Given the description of an element on the screen output the (x, y) to click on. 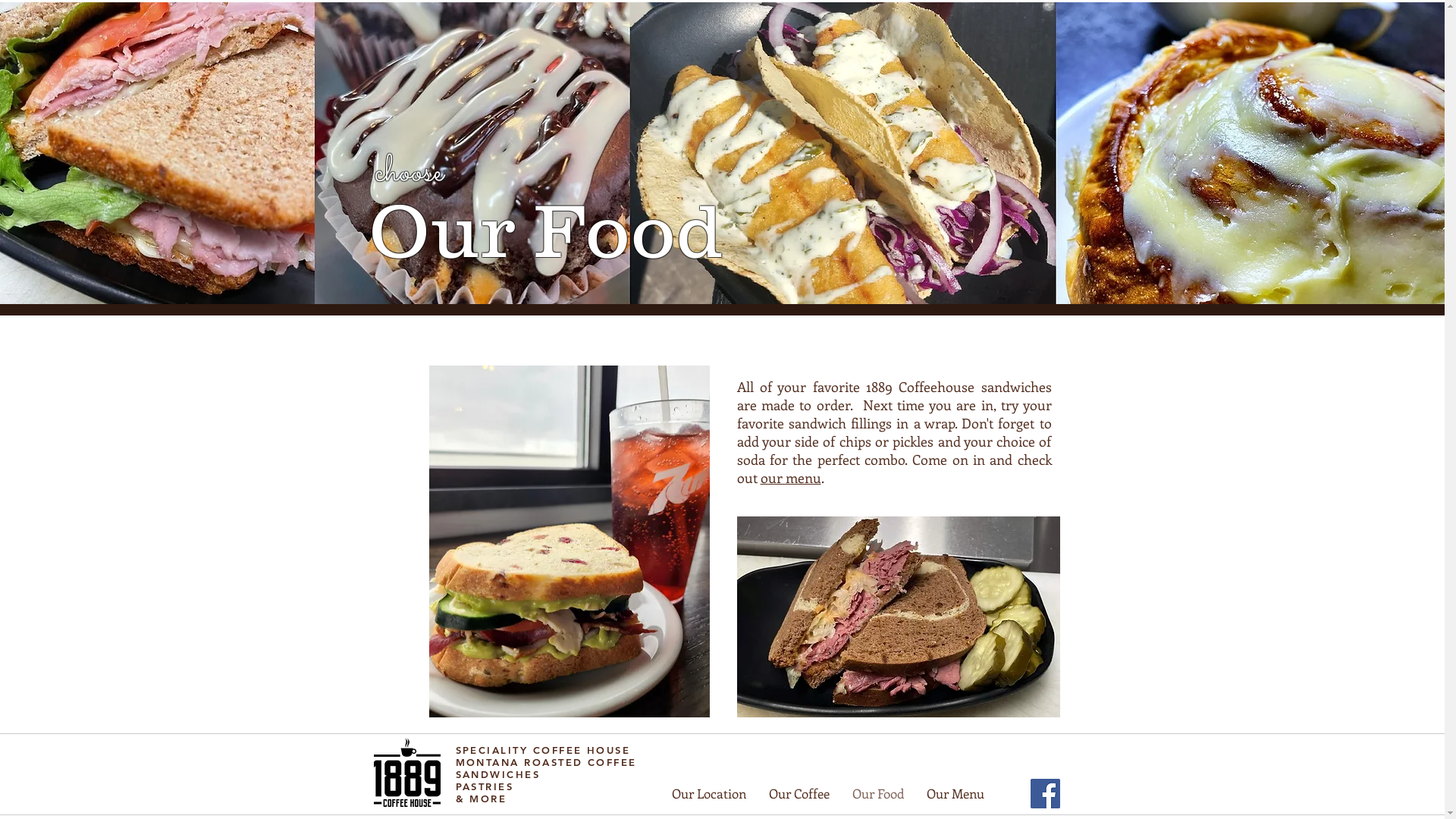
Our Coffee Element type: text (798, 793)
our menu Element type: text (789, 477)
MONTANA ROASTED COFFEE Element type: text (545, 762)
Our Location Element type: text (707, 793)
SPECIALITY COFFEE HOUSE Element type: text (542, 749)
SANDWICHES Element type: text (497, 774)
PASTRIES Element type: text (484, 786)
& MORE Element type: text (480, 798)
Our Menu Element type: text (954, 793)
Our Food Element type: text (877, 793)
